Given the description of an element on the screen output the (x, y) to click on. 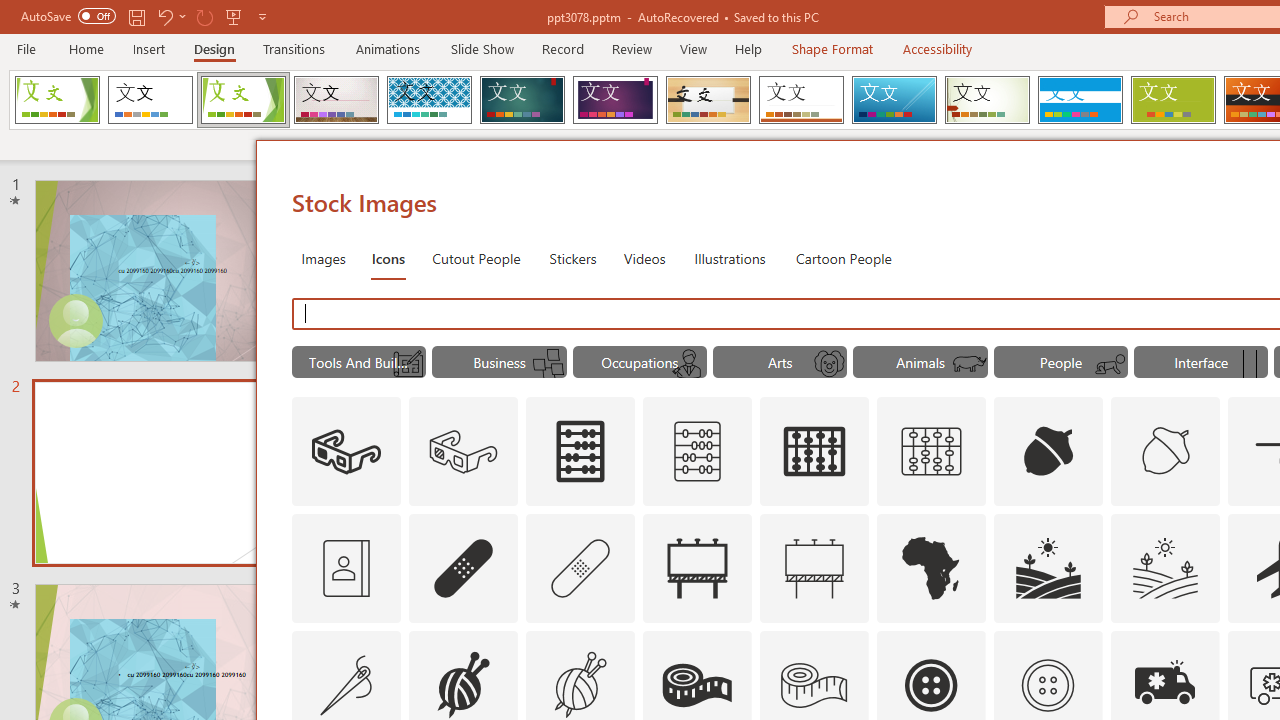
AutomationID: Icons (1047, 685)
AutomationID: Icons_AdhesiveBandage_M (580, 568)
Slice (893, 100)
AutomationID: Icons_Abacus (580, 452)
AutomationID: Icons_Agriculture (1048, 568)
